Given the description of an element on the screen output the (x, y) to click on. 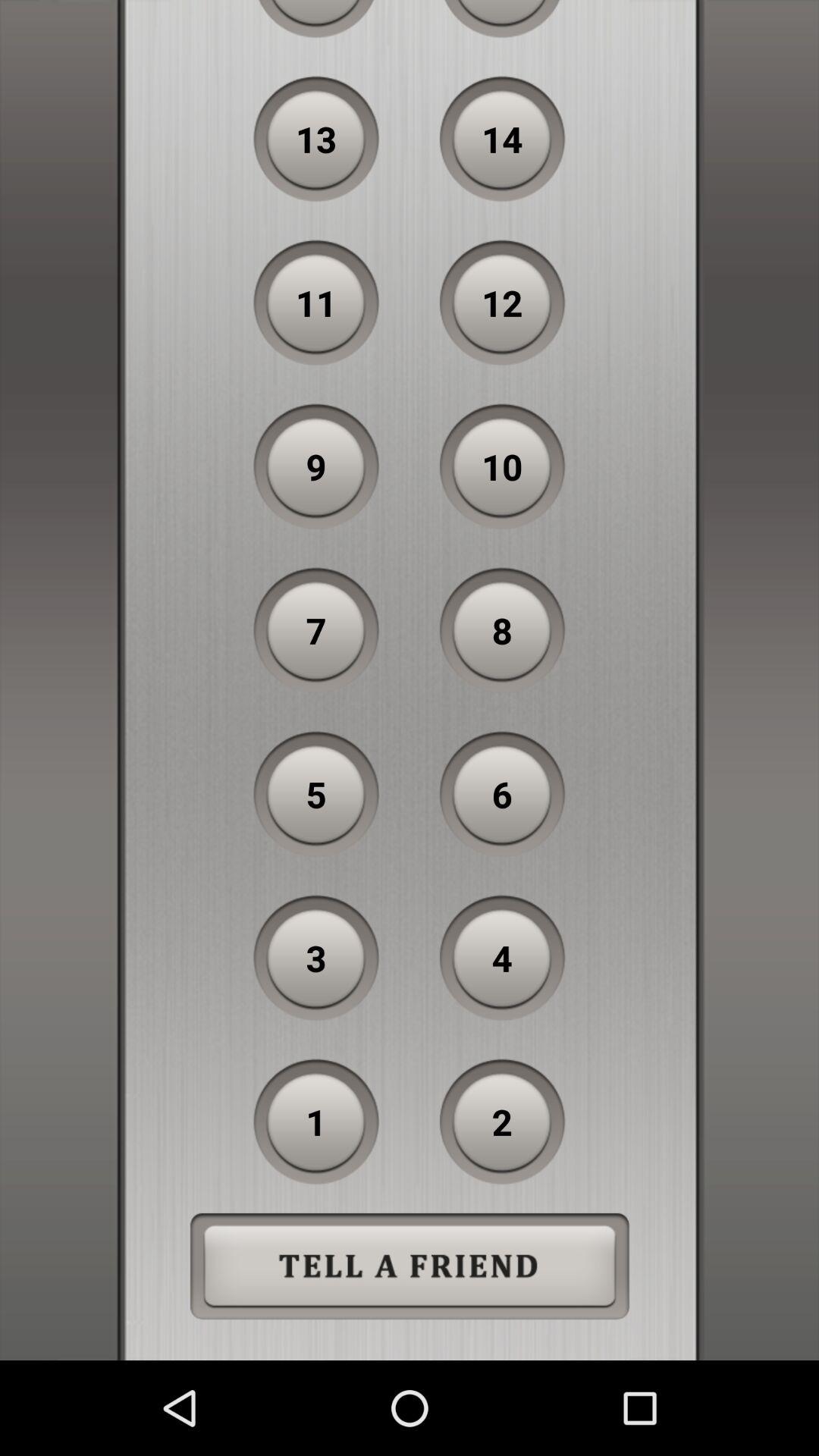
launch item next to 6 item (316, 794)
